Given the description of an element on the screen output the (x, y) to click on. 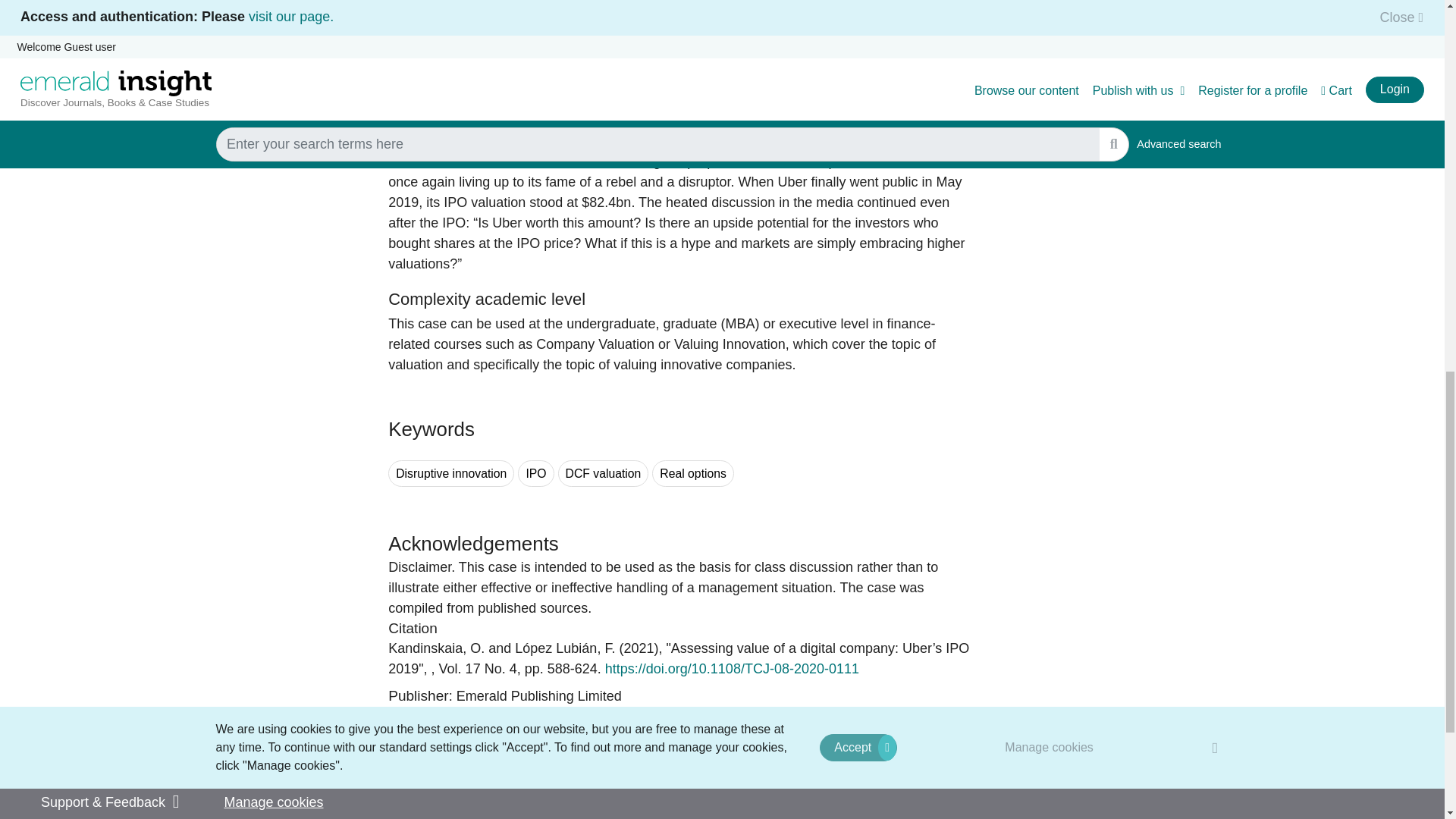
Search for keyword IPO (535, 473)
Olga Kandinskaia (436, 648)
Search for keyword Disruptive innovation (450, 473)
Search for keyword DCF valuation (603, 473)
Search for keyword Real options (692, 473)
